Given the description of an element on the screen output the (x, y) to click on. 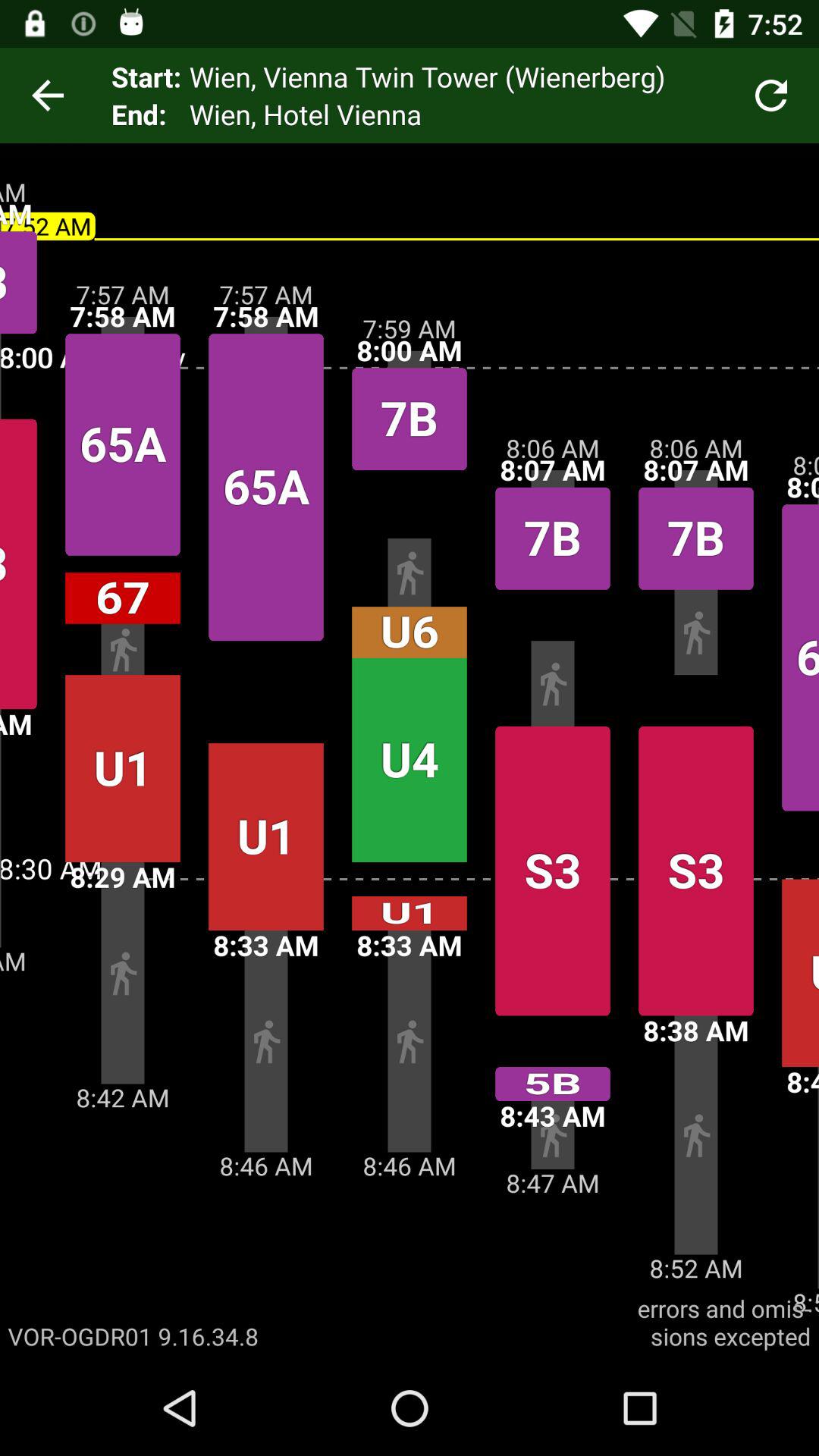
press the app to the right of wien vienna twin app (771, 95)
